Given the description of an element on the screen output the (x, y) to click on. 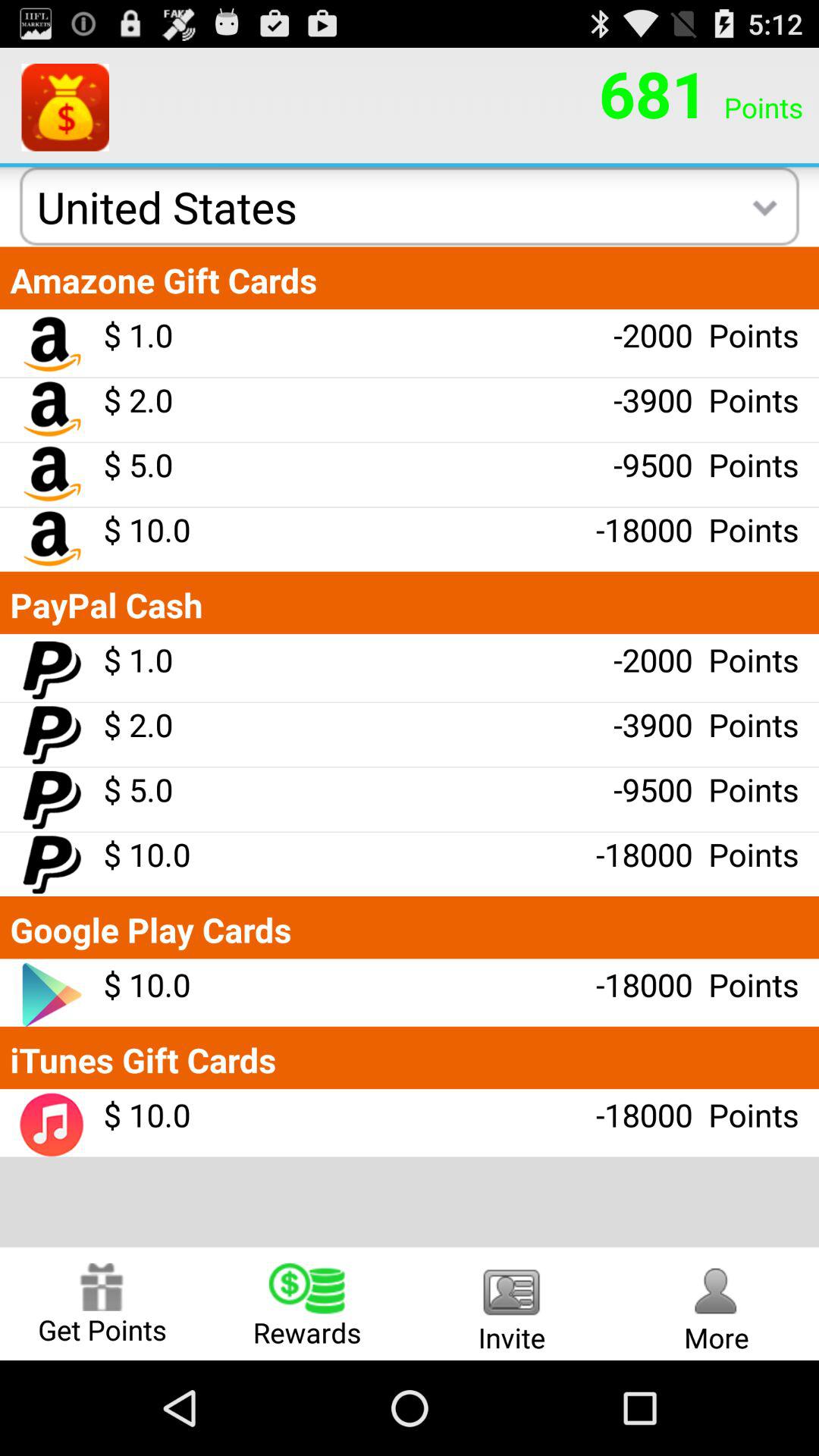
scroll until more radio button (716, 1303)
